Given the description of an element on the screen output the (x, y) to click on. 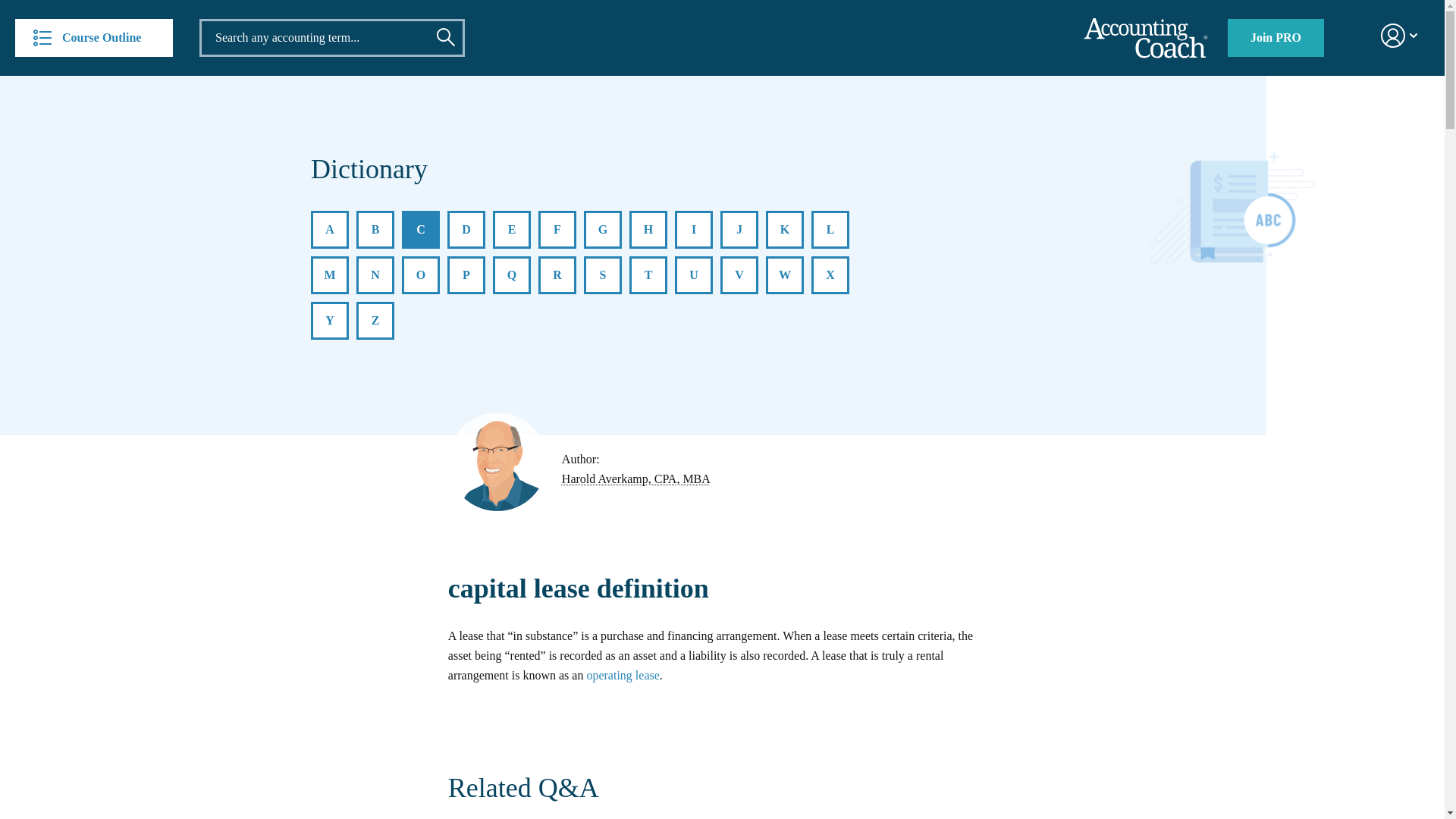
D (465, 229)
G (602, 229)
K (784, 229)
Join PRO (1275, 37)
Course Outline (93, 37)
S (602, 275)
Course Outline (93, 37)
C (420, 229)
I (694, 229)
A (330, 229)
